Given the description of an element on the screen output the (x, y) to click on. 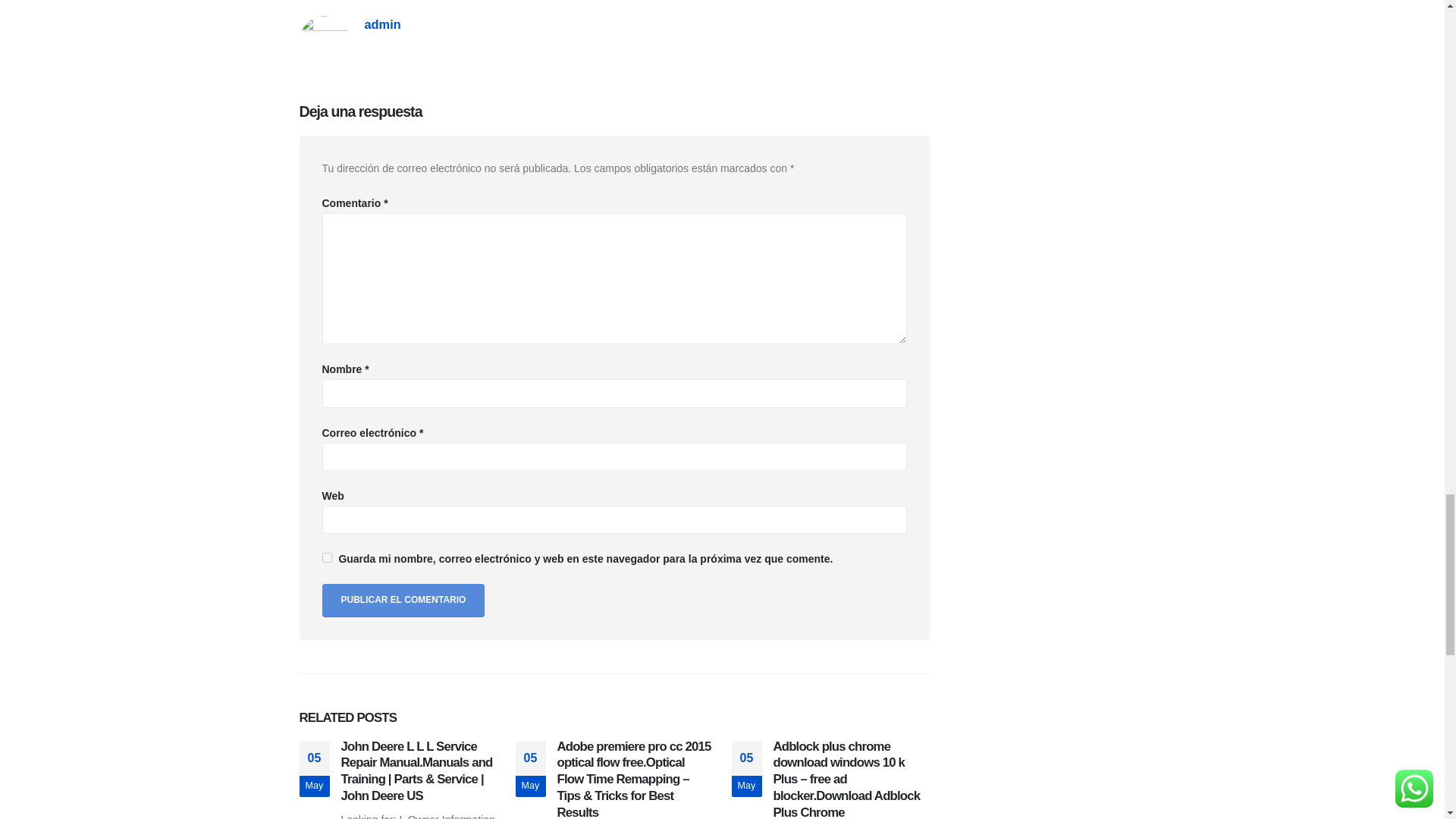
yes (326, 557)
Publicar el comentario (402, 599)
